Given the description of an element on the screen output the (x, y) to click on. 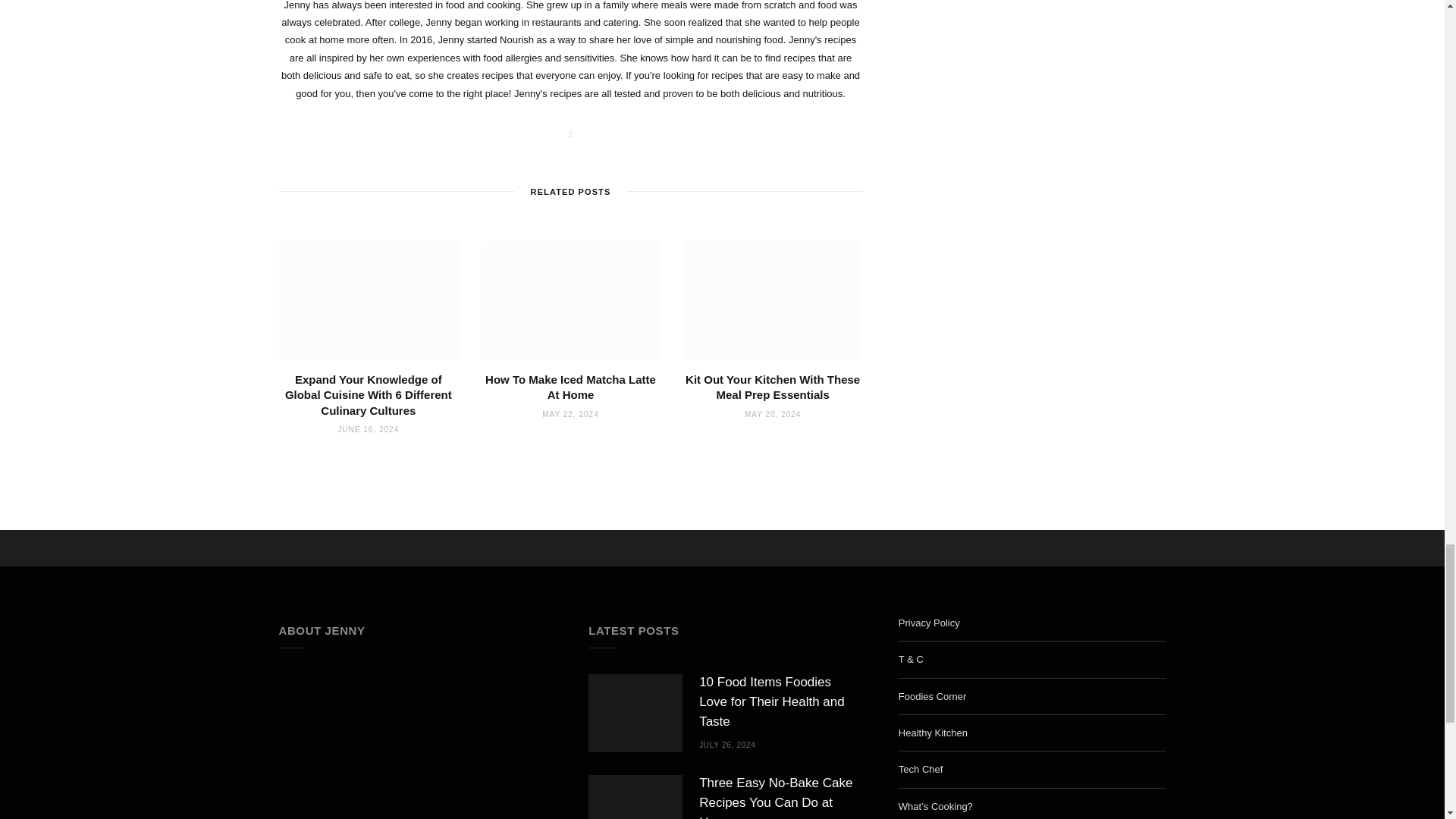
JUNE 16, 2024 (367, 429)
How To Make Iced Matcha Latte At Home (570, 387)
MAY 22, 2024 (569, 414)
Kit Out Your Kitchen With These Meal Prep Essentials (772, 387)
